Given the description of an element on the screen output the (x, y) to click on. 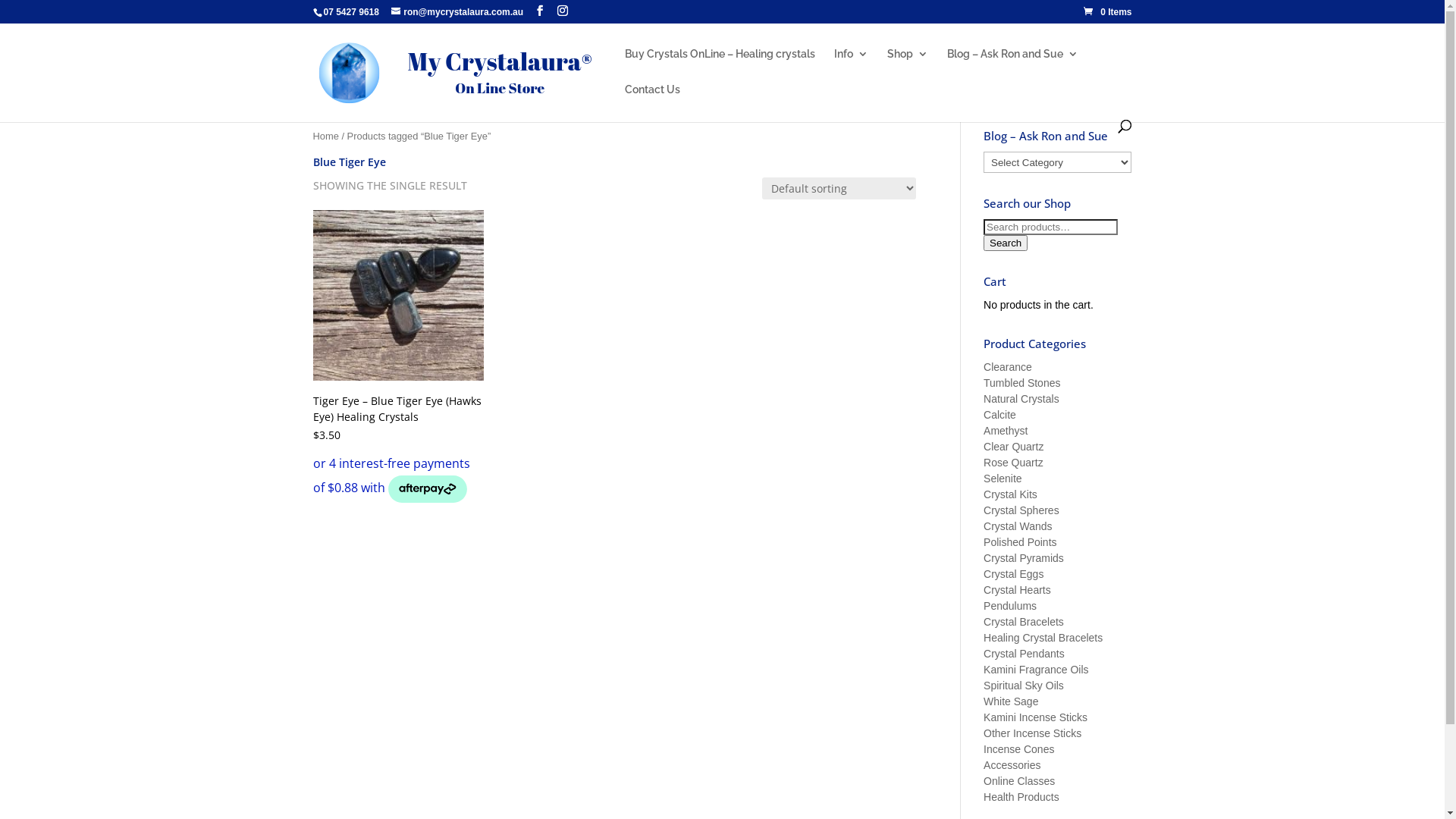
Calcite Element type: text (999, 414)
Kamini Fragrance Oils Element type: text (1035, 669)
Info Element type: text (851, 66)
Crystal Pendants Element type: text (1023, 653)
Spiritual Sky Oils Element type: text (1023, 685)
0 Items Element type: text (1107, 11)
Crystal Eggs Element type: text (1013, 573)
Shop Element type: text (907, 66)
Natural Crystals Element type: text (1021, 398)
White Sage Element type: text (1010, 701)
Health Products Element type: text (1021, 796)
Healing Crystal Bracelets Element type: text (1042, 637)
Search Element type: text (1005, 243)
Tumbled Stones Element type: text (1021, 382)
Crystal Wands Element type: text (1017, 526)
Amethyst Element type: text (1005, 430)
Incense Cones Element type: text (1018, 749)
Crystal Bracelets Element type: text (1023, 621)
Polished Points Element type: text (1020, 542)
Kamini Incense Sticks Element type: text (1035, 717)
Contact Us Element type: text (652, 101)
Other Incense Sticks Element type: text (1032, 733)
Online Classes Element type: text (1018, 781)
Pendulums Element type: text (1009, 605)
ron@mycrystalaura.com.au Element type: text (457, 11)
Home Element type: text (325, 135)
Selenite Element type: text (1002, 478)
Crystal Spheres Element type: text (1021, 510)
Rose Quartz Element type: text (1013, 462)
Crystal Pyramids Element type: text (1023, 558)
Crystal Kits Element type: text (1010, 494)
Crystal Hearts Element type: text (1017, 589)
Clear Quartz Element type: text (1013, 446)
Clearance Element type: text (1007, 366)
Accessories Element type: text (1011, 765)
